Given the description of an element on the screen output the (x, y) to click on. 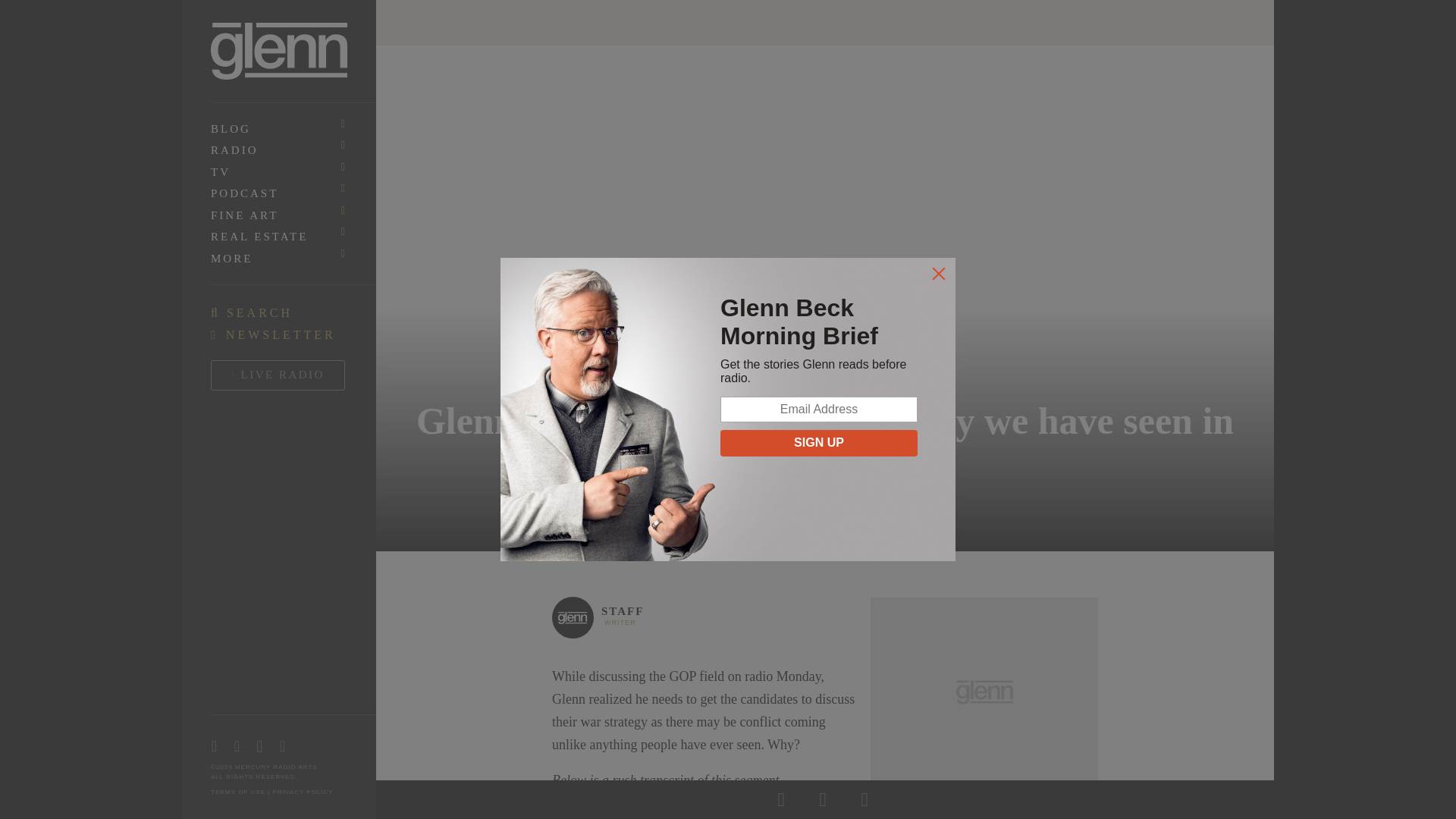
3rd party ad content (983, 692)
If you own a mouse, play it for 1 minute. (824, 812)
